Given the description of an element on the screen output the (x, y) to click on. 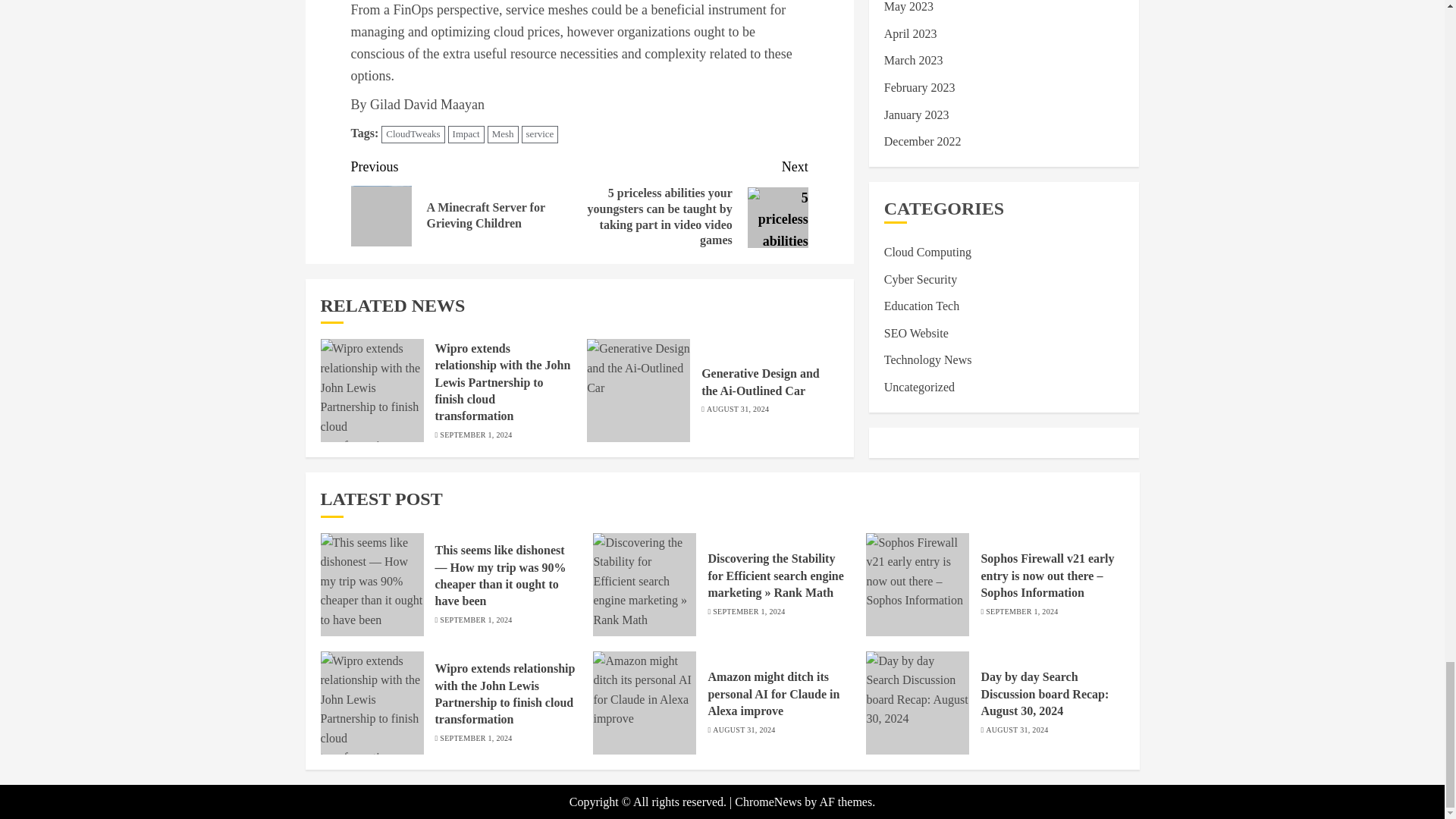
Mesh (502, 134)
AUGUST 31, 2024 (737, 409)
service (540, 134)
A Minecraft Server for Grieving Children (380, 215)
Generative Design and the Ai-Outlined Car (638, 390)
